Given the description of an element on the screen output the (x, y) to click on. 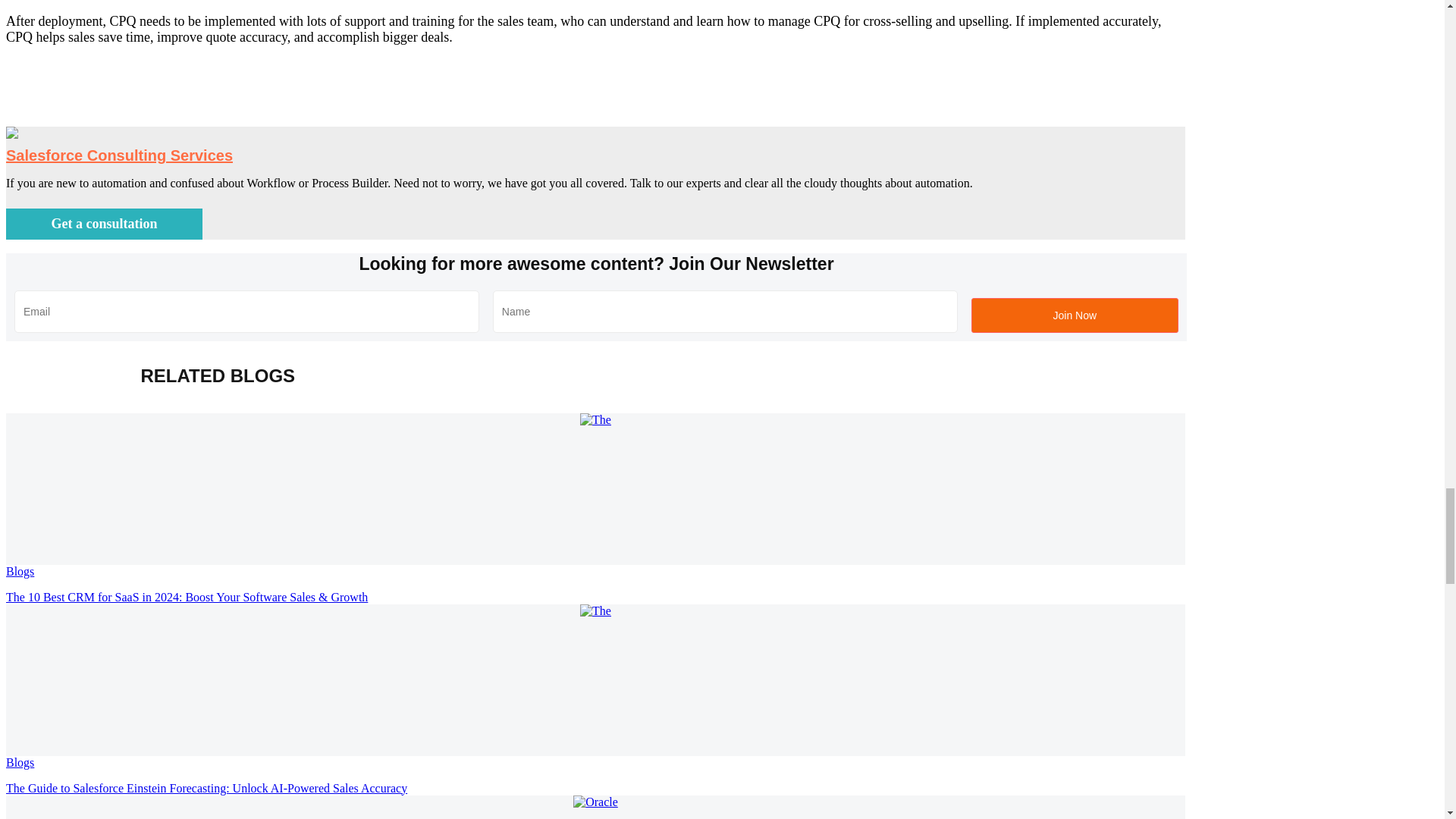
Join Now (1074, 315)
